Given the description of an element on the screen output the (x, y) to click on. 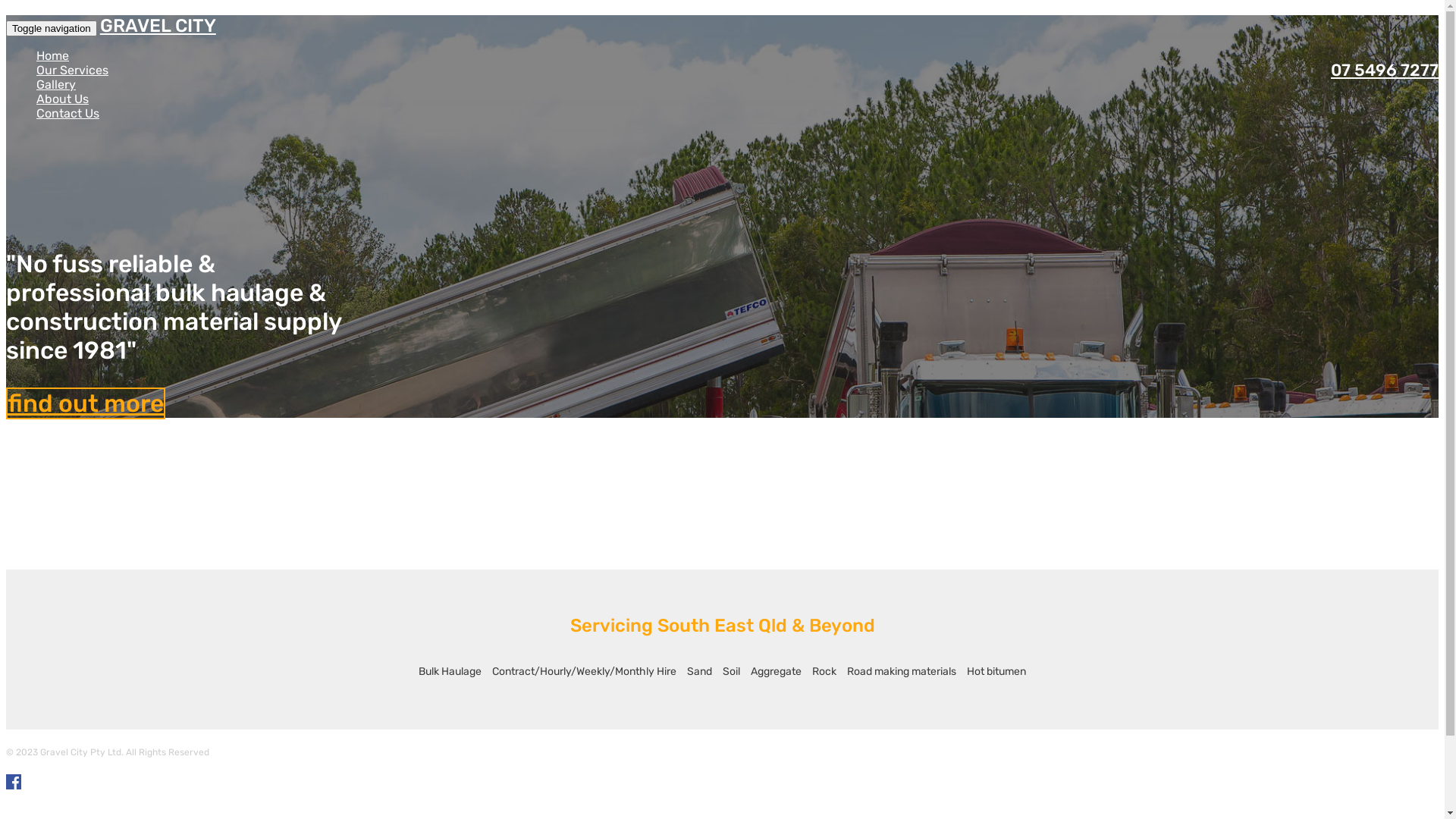
About Us Element type: text (62, 98)
Skip to main content Element type: text (64, 15)
Our Services Element type: text (72, 69)
GRAVEL CITY Element type: text (158, 25)
find out more Element type: text (85, 403)
Contact Us Element type: text (67, 113)
07 5496 7277 Element type: text (1382, 69)
Home Element type: text (52, 55)
Gallery Element type: text (55, 84)
Toggle navigation Element type: text (51, 28)
